Given the description of an element on the screen output the (x, y) to click on. 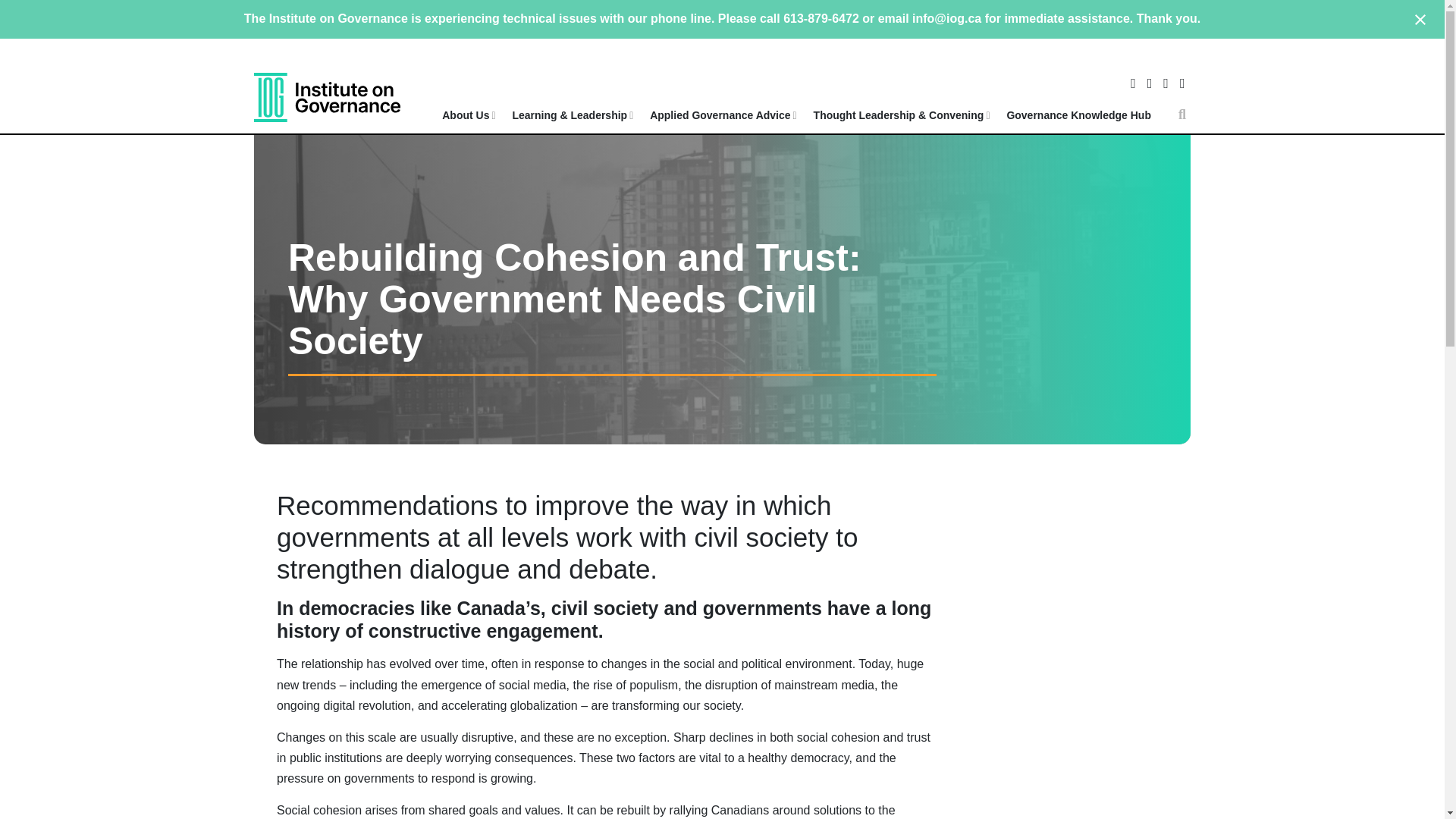
About Us (471, 121)
Governance Knowledge Hub (1083, 121)
Applied Governance Advice (725, 121)
Institute on Governance (326, 97)
